Given the description of an element on the screen output the (x, y) to click on. 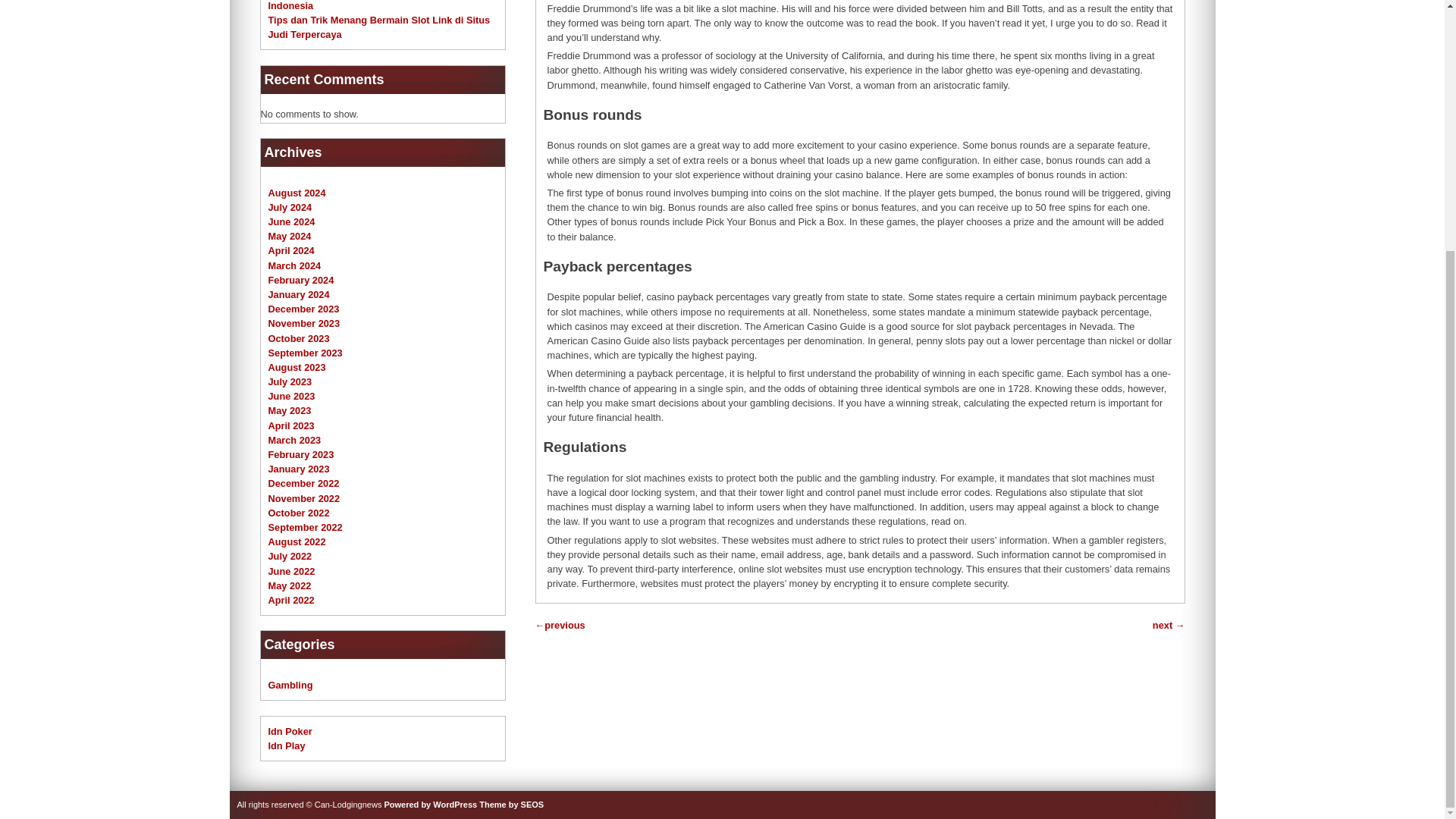
April 2024 (290, 250)
August 2023 (296, 367)
July 2022 (290, 555)
December 2022 (303, 482)
March 2024 (294, 265)
December 2023 (303, 308)
August 2022 (296, 541)
Seos free wordpress themes (511, 804)
September 2023 (304, 352)
May 2023 (289, 410)
June 2022 (291, 571)
February 2023 (300, 454)
September 2022 (304, 527)
July 2023 (290, 381)
March 2023 (294, 439)
